Given the description of an element on the screen output the (x, y) to click on. 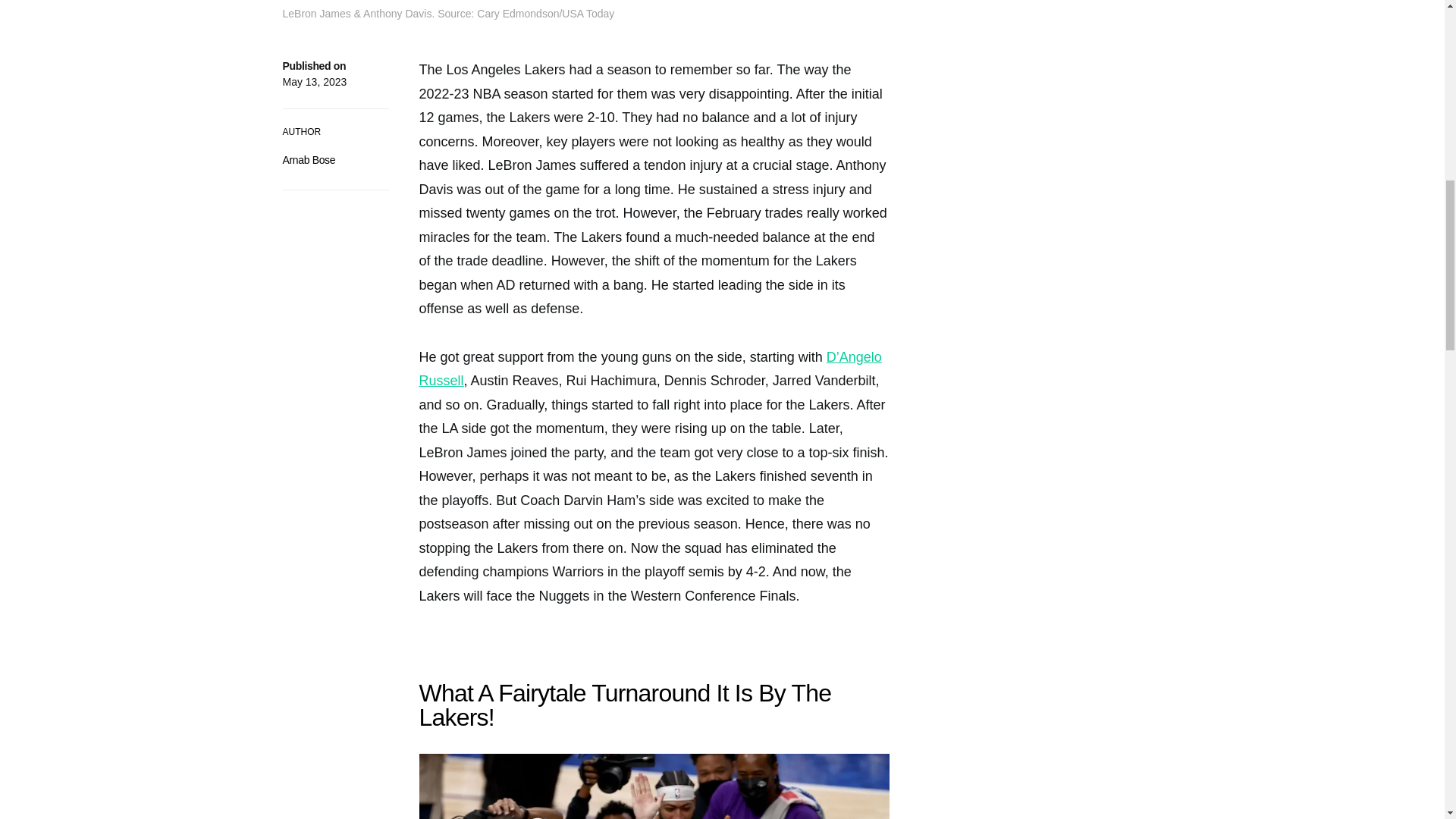
Arnab Bose (308, 159)
